Given the description of an element on the screen output the (x, y) to click on. 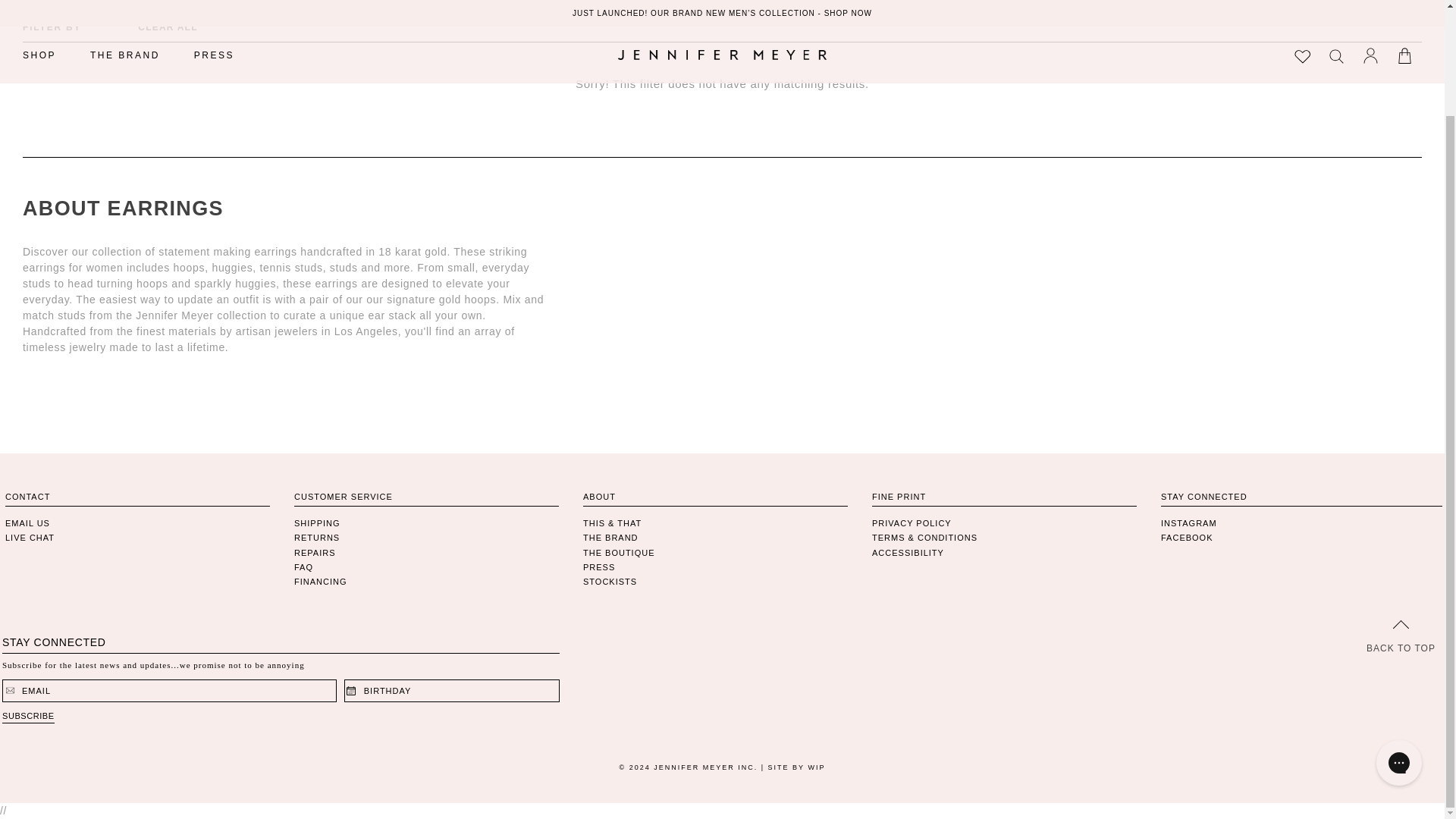
Gorgias live chat messenger (1398, 638)
